Given the description of an element on the screen output the (x, y) to click on. 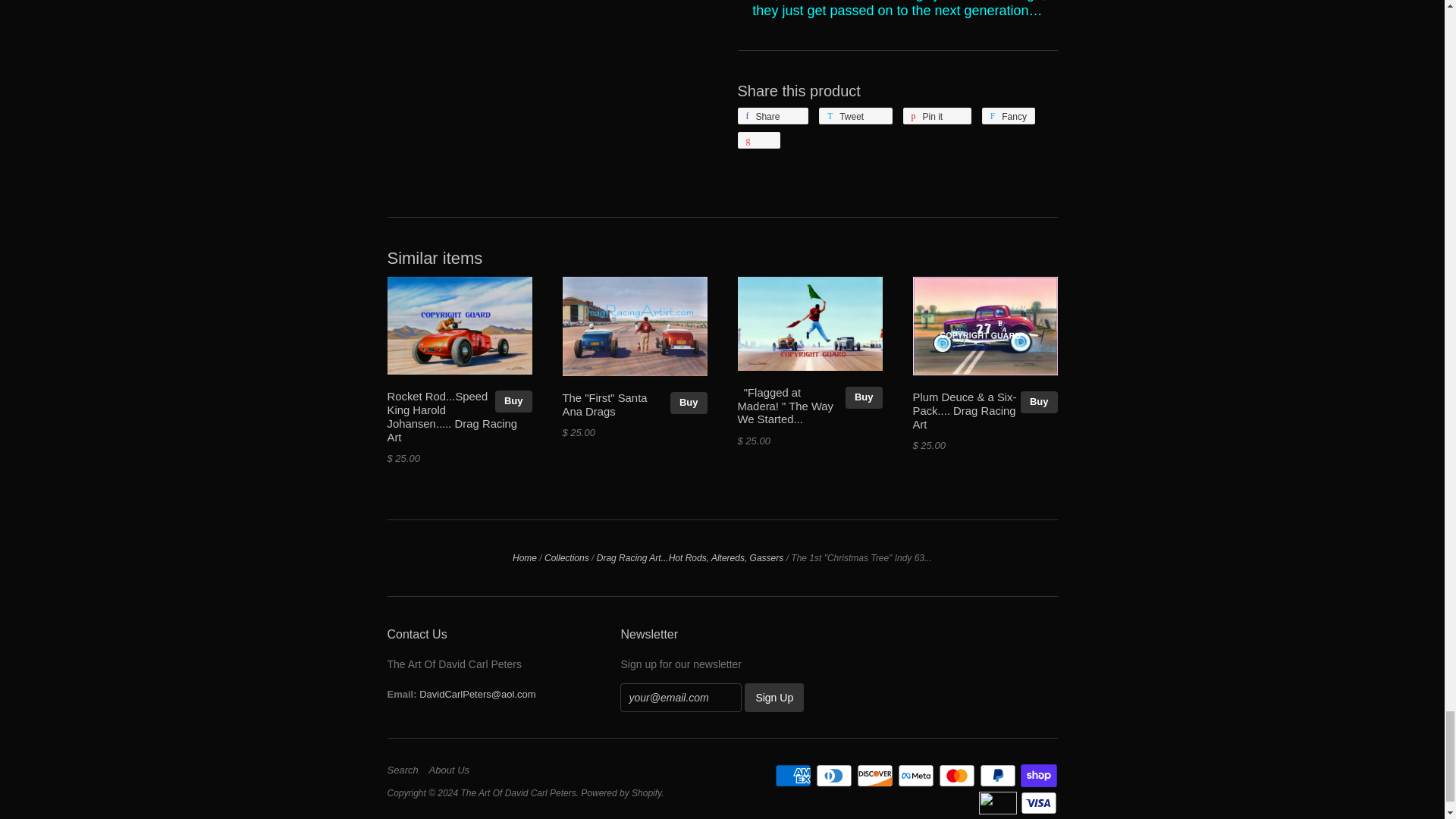
Sign Up (773, 697)
Search (406, 769)
Share (772, 115)
Buy (863, 397)
Sign Up (773, 697)
Buy (688, 403)
Buy (513, 401)
Rocket Rod...Speed King Harold Johansen..... Drag Racing Art (451, 416)
Pin it (936, 115)
Tweet (855, 115)
Home (524, 557)
Fancy (1008, 115)
The "First" Santa Ana Drags  (604, 404)
About Us (453, 769)
Collections (566, 557)
